Given the description of an element on the screen output the (x, y) to click on. 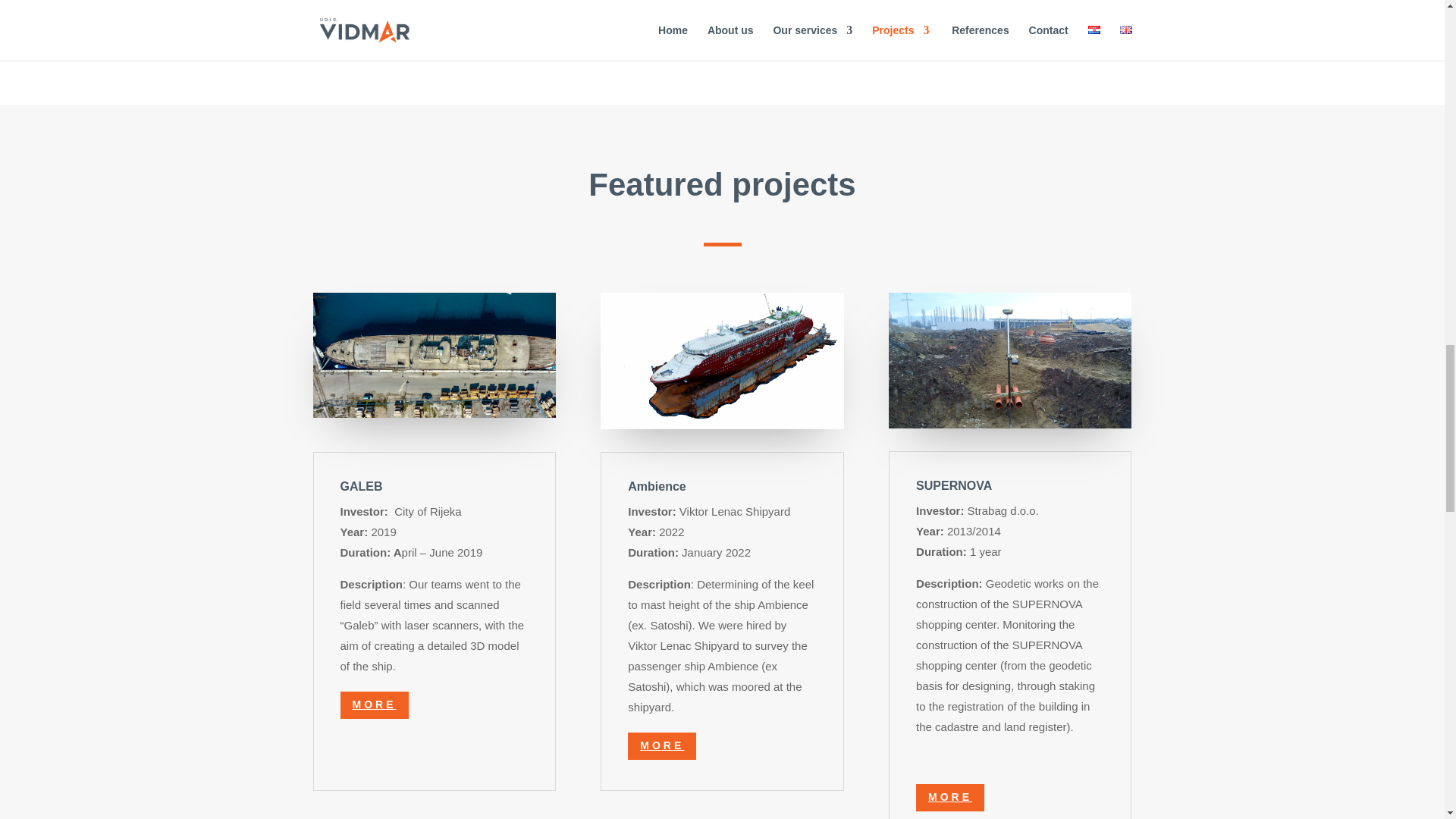
satoshI-VLENAC1 (721, 360)
DSC05338 (1009, 360)
